Given the description of an element on the screen output the (x, y) to click on. 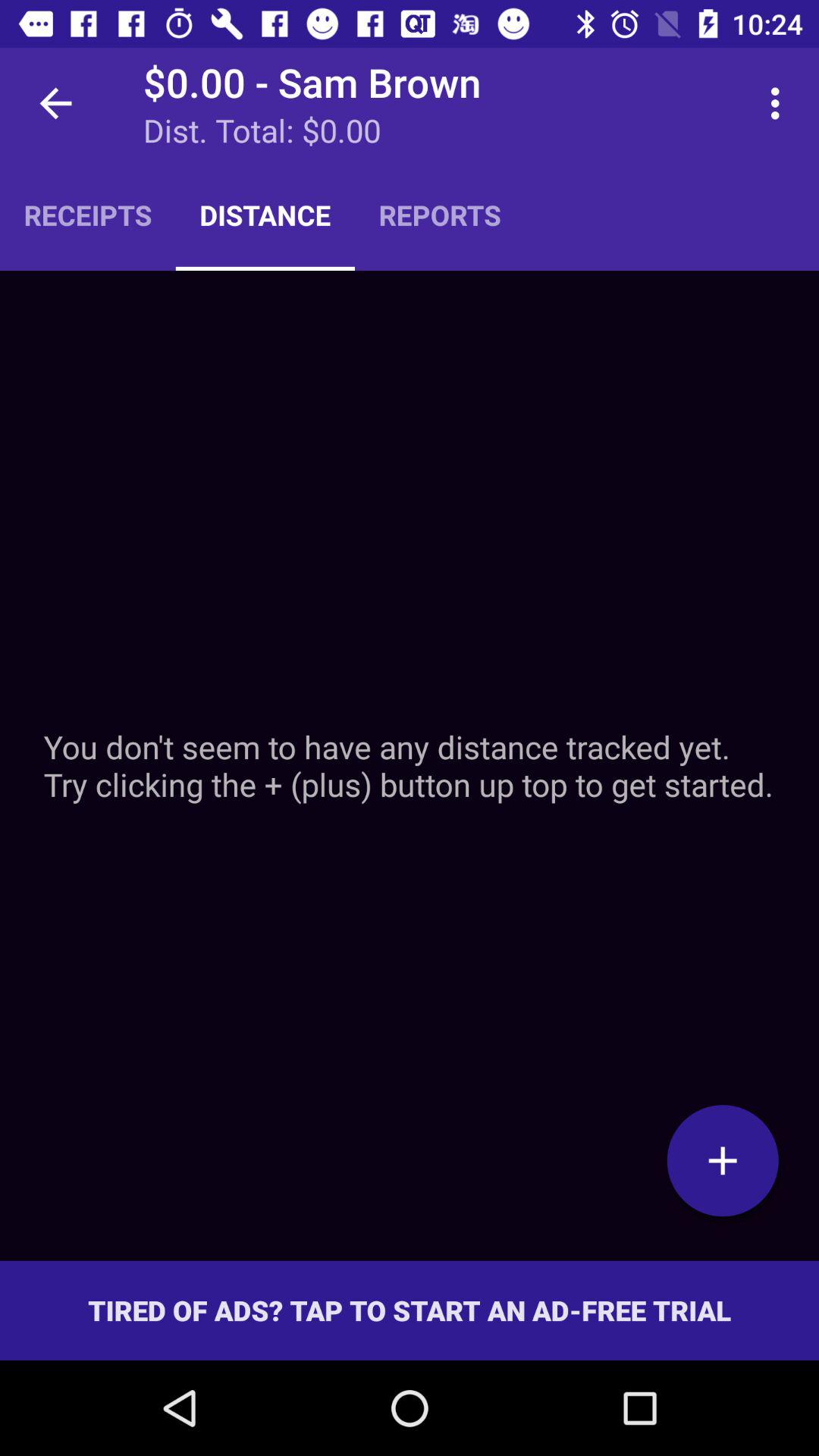
click item to the left of distance item (87, 214)
